Given the description of an element on the screen output the (x, y) to click on. 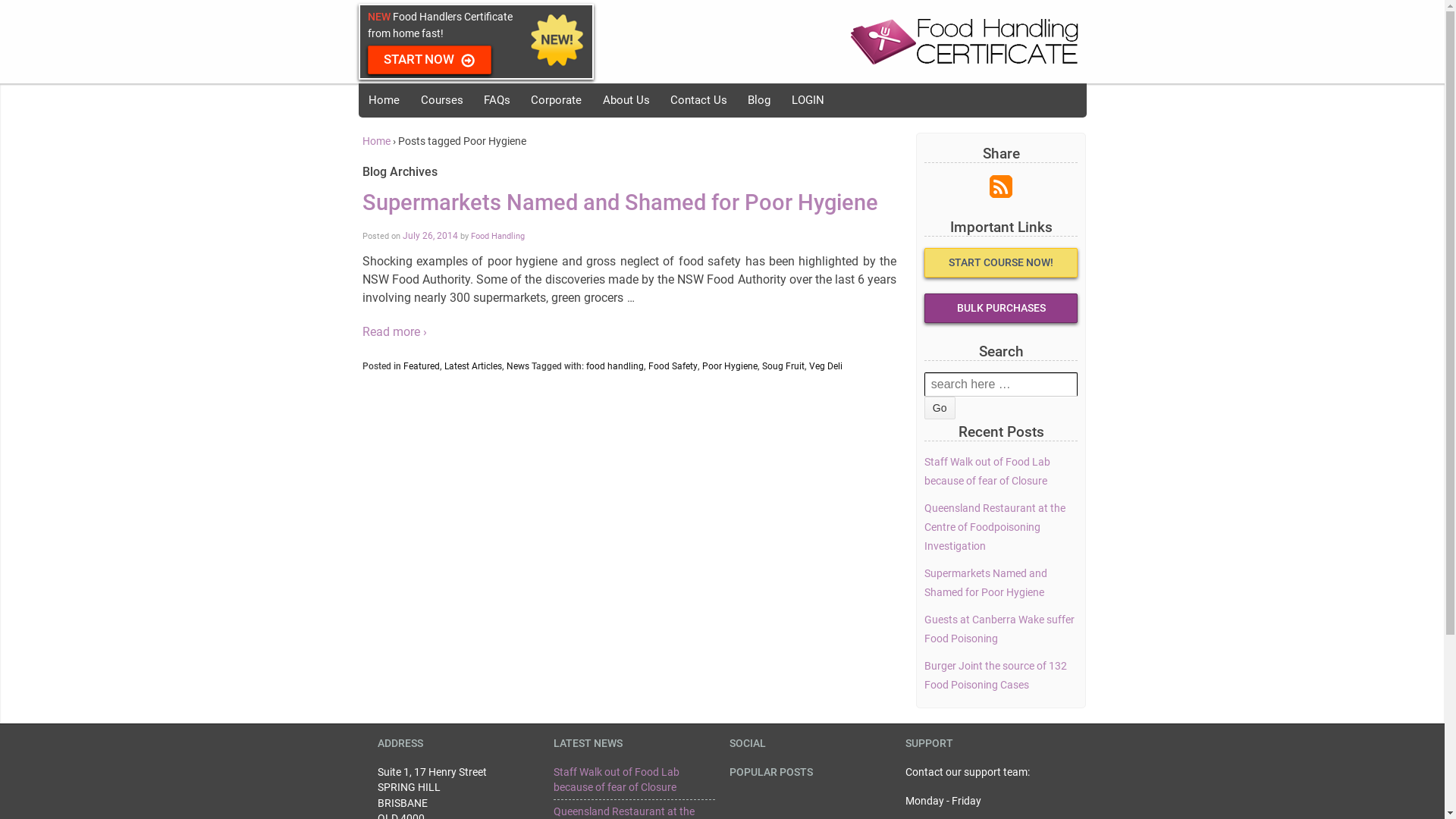
Contact Us Element type: text (698, 100)
START COURSE NOW! Element type: text (1001, 262)
Blog Element type: text (759, 100)
Staff Walk out of Food Lab because of fear of Closure Element type: text (987, 471)
FAQs Element type: text (496, 100)
BULK PURCHASES Element type: text (1001, 308)
Guests at Canberra Wake suffer Food Poisoning Element type: text (999, 629)
LOGIN Element type: text (807, 100)
food handling Element type: text (614, 365)
Food Safety Element type: text (671, 365)
Latest Articles Element type: text (473, 365)
Soug Fruit Element type: text (782, 365)
Burger Joint the source of 132 Food Poisoning Cases Element type: text (995, 675)
About Us Element type: text (625, 100)
Go Element type: text (939, 407)
Food Handling Element type: text (497, 235)
Home Element type: text (383, 100)
Staff Walk out of Food Lab because of fear of Closure Element type: text (616, 779)
NEW Food Handlers Certificate from home fast!
START NOW Element type: text (535, 41)
Poor Hygiene Element type: text (729, 365)
News Element type: text (517, 365)
Featured Element type: text (421, 365)
Courses Element type: text (441, 100)
Veg Deli Element type: text (824, 365)
Supermarkets Named and Shamed for Poor Hygiene Element type: text (620, 202)
Corporate Element type: text (556, 100)
Home Element type: text (376, 140)
July 26, 2014 Element type: text (429, 235)
Supermarkets Named and Shamed for Poor Hygiene Element type: text (985, 583)
